Given the description of an element on the screen output the (x, y) to click on. 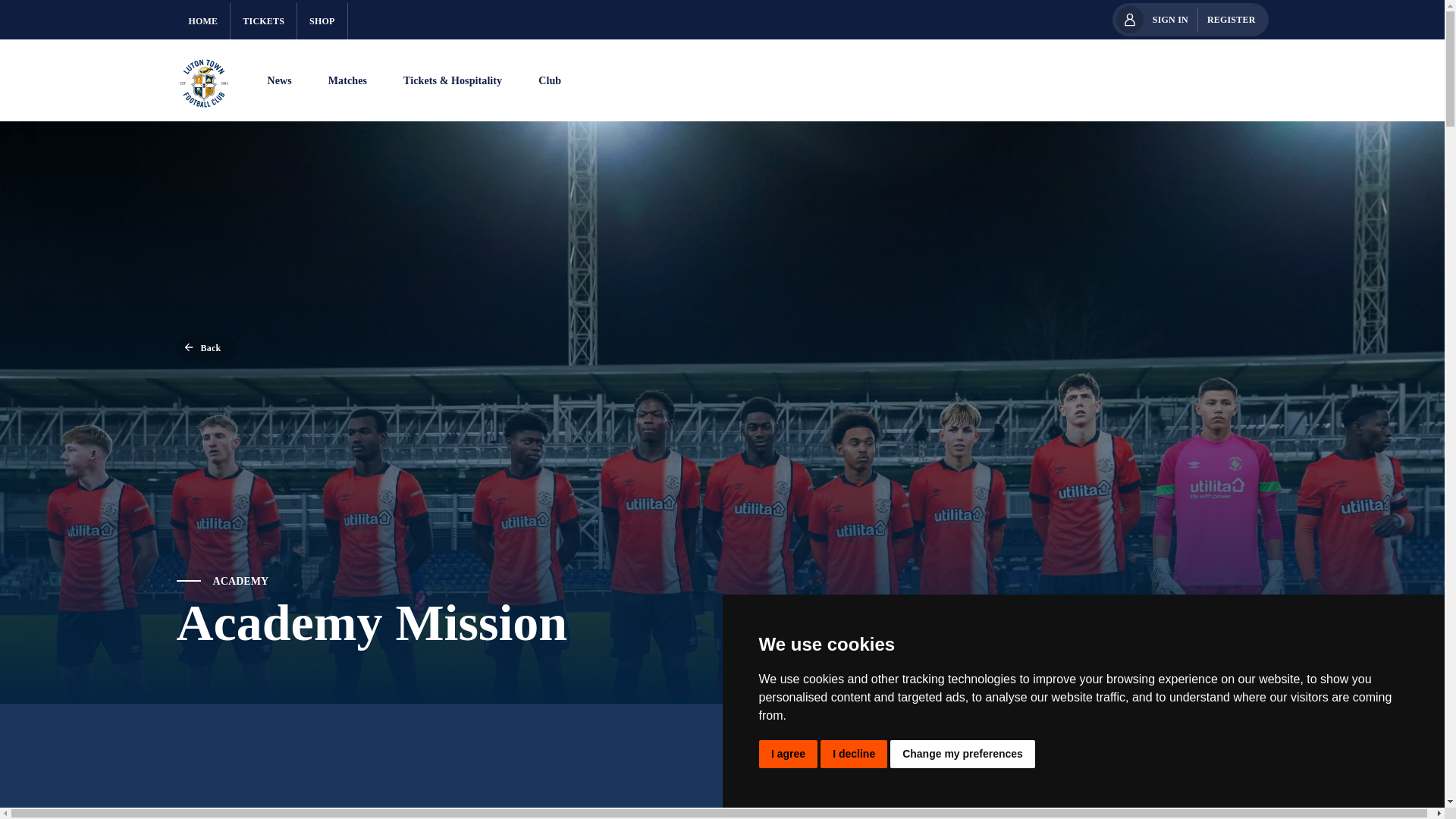
Back (205, 348)
Sign In (1169, 19)
News (278, 81)
Tickets (263, 21)
Club (549, 81)
SHOP (321, 21)
Back (205, 348)
TICKETS (263, 21)
I agree (787, 754)
SIGN IN (1169, 19)
Shop (321, 21)
Club (549, 81)
Register (1231, 19)
REGISTER (1231, 19)
Matches (347, 81)
